Given the description of an element on the screen output the (x, y) to click on. 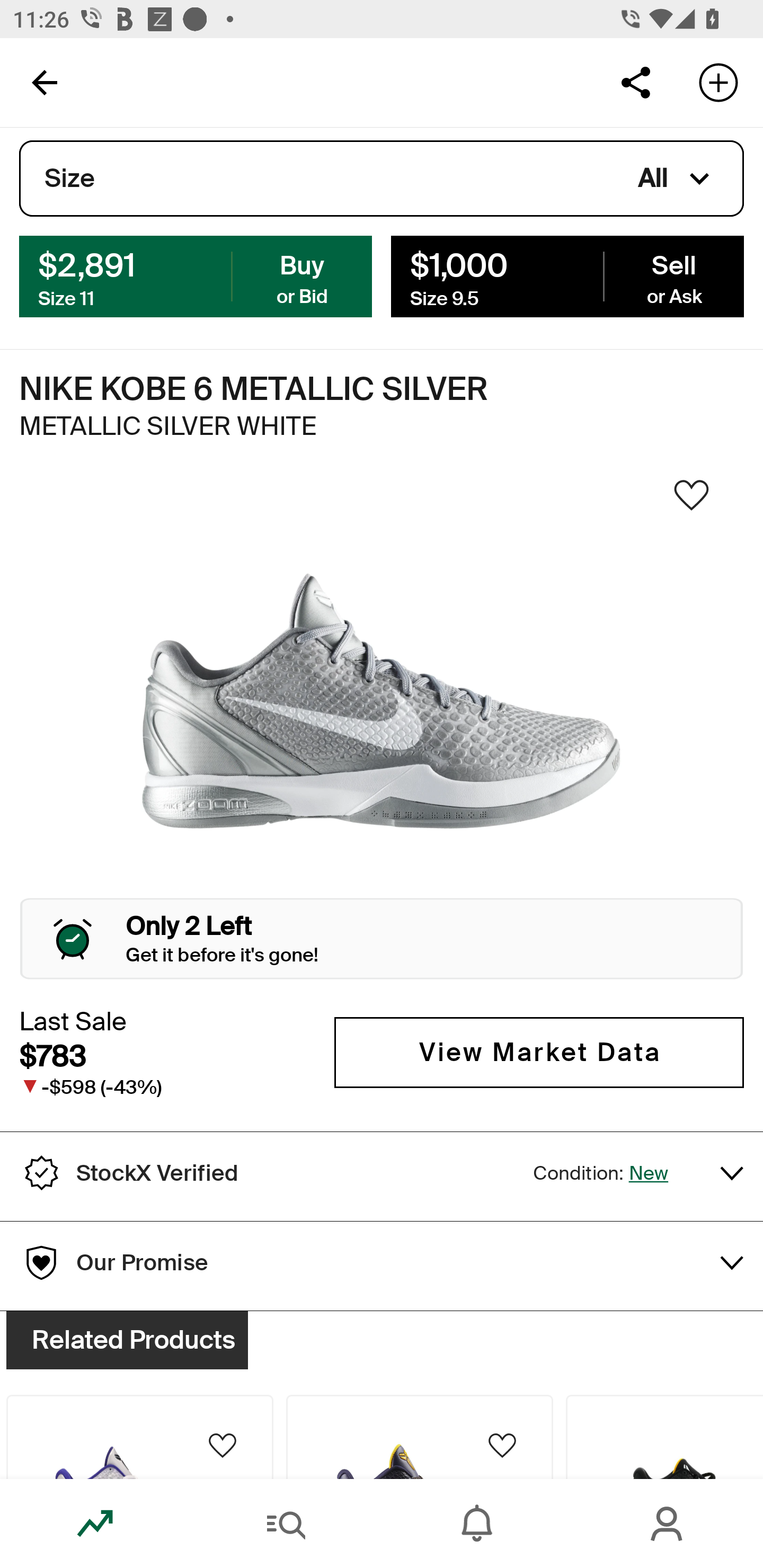
Share (635, 81)
Add (718, 81)
Size All (381, 178)
$146 Buy Size 4.5 or Bid (195, 275)
$260 Sell Size 12.5 or Ask (566, 275)
Sneaker Image (381, 699)
View Market Data (538, 1052)
Search (285, 1523)
Inbox (476, 1523)
Account (667, 1523)
